Given the description of an element on the screen output the (x, y) to click on. 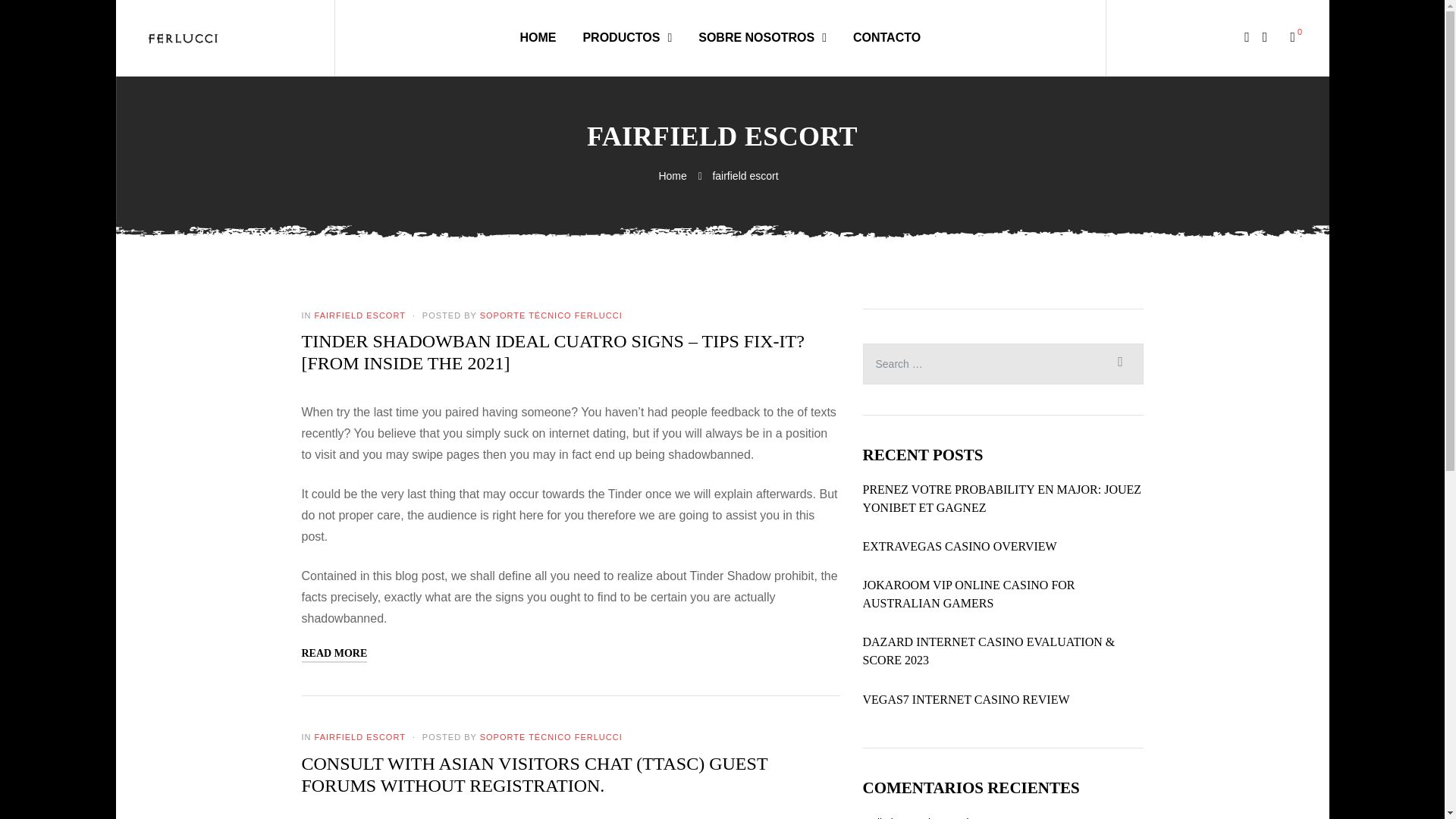
PRENEZ VOTRE PROBABILITY EN MAJOR: JOUEZ YONIBET ET GAGNEZ (1002, 498)
Home (674, 175)
Go to Ferlucci. (674, 175)
SOBRE NOSOTROS (762, 37)
HOME (537, 37)
FAIRFIELD ESCORT (360, 737)
READ MORE (334, 653)
PRODUCTOS (626, 37)
CONTACTO (886, 37)
FAIRFIELD ESCORT (360, 315)
